Given the description of an element on the screen output the (x, y) to click on. 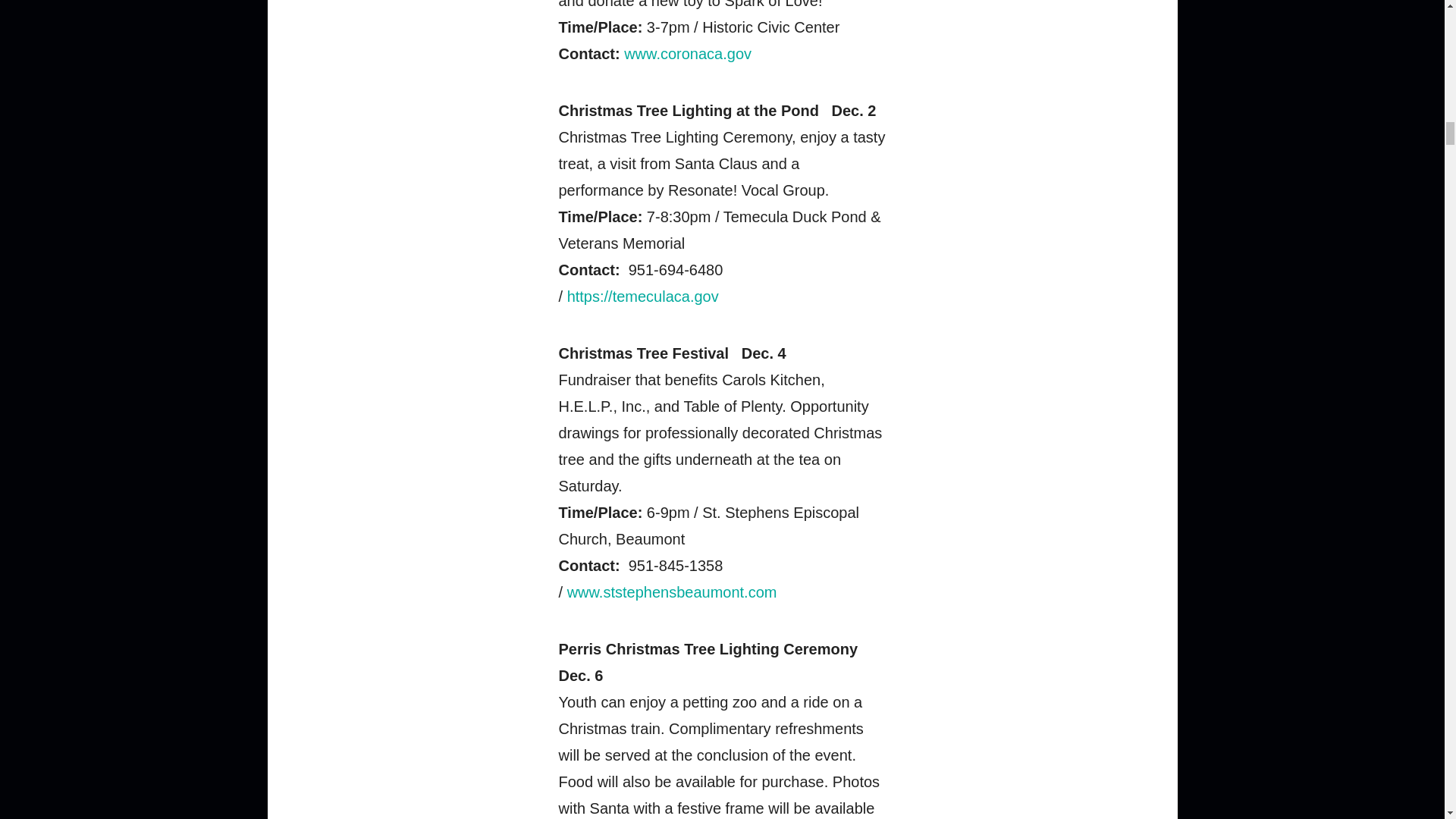
www.coronaca.gov (687, 53)
www.ststephensbeaumont.com (672, 591)
